Given the description of an element on the screen output the (x, y) to click on. 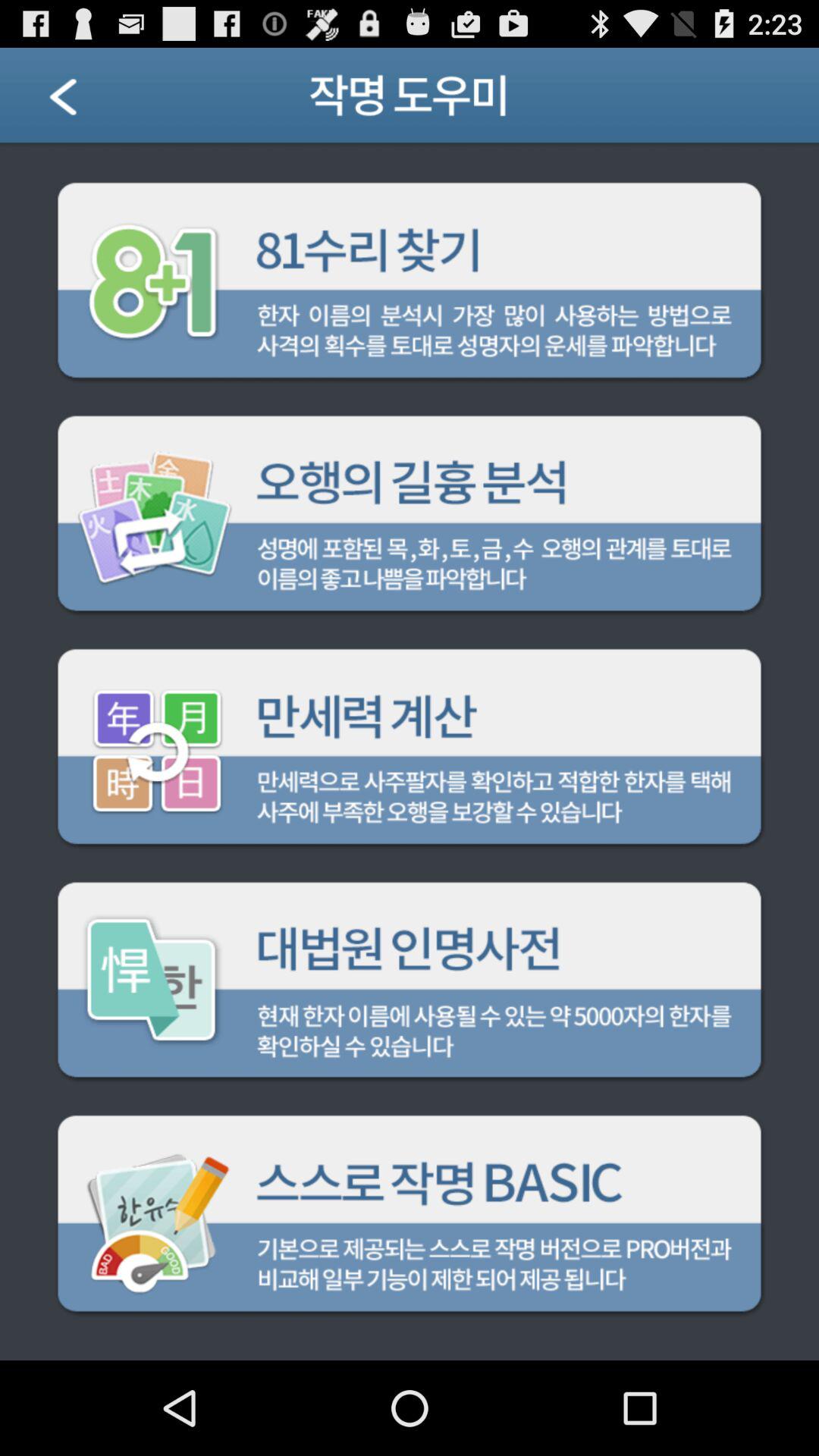
back (81, 101)
